Given the description of an element on the screen output the (x, y) to click on. 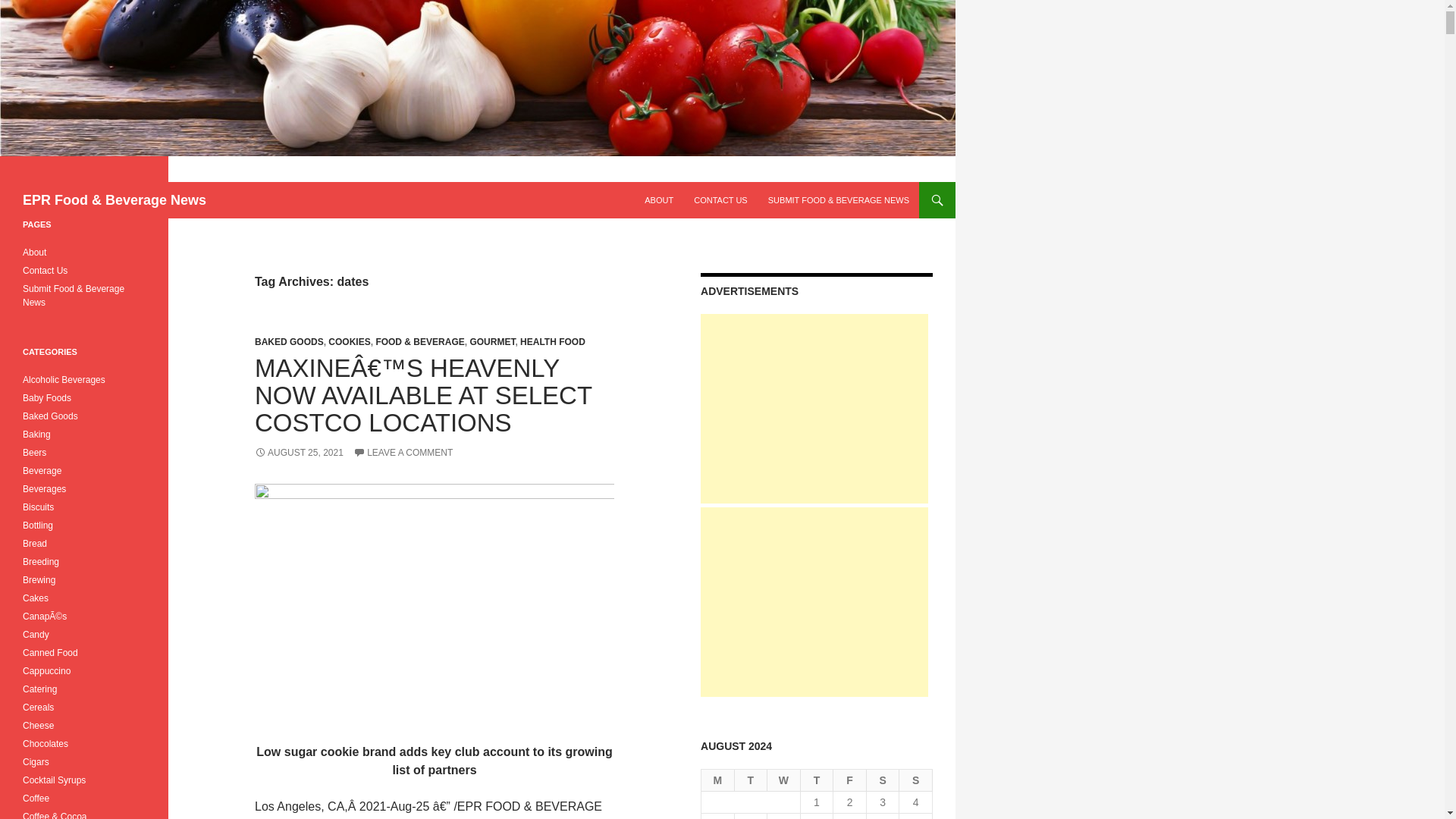
AUGUST 25, 2021 (298, 452)
HEALTH FOOD (552, 341)
Wednesday (783, 780)
Thursday (817, 780)
COOKIES (349, 341)
LEAVE A COMMENT (402, 452)
CONTACT US (720, 199)
Advertisement (814, 408)
BAKED GOODS (288, 341)
